Given the description of an element on the screen output the (x, y) to click on. 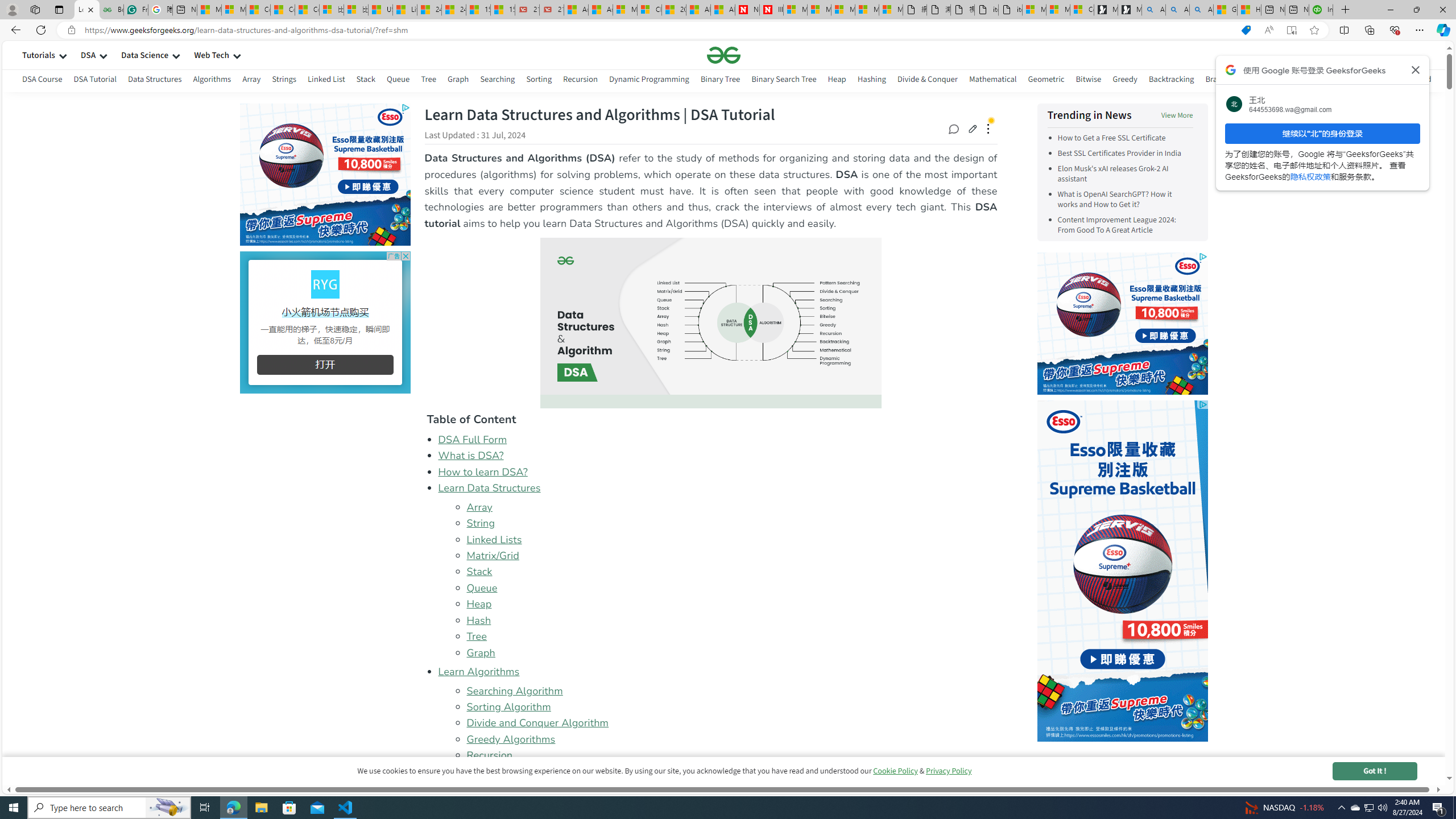
How to learn DSA? (482, 471)
Randomized (1409, 80)
Data Structures (154, 80)
Data Structures (154, 79)
Linked Lists (493, 539)
Matrix/Grid (731, 555)
Best SSL Certificates Provider in India - GeeksforGeeks (111, 9)
Sorting (538, 80)
Hashing (871, 80)
DSA Course (42, 80)
DSA Tutorial (94, 80)
itconcepthk.com/projector_solutions.mp4 (1009, 9)
Queue (481, 587)
